Given the description of an element on the screen output the (x, y) to click on. 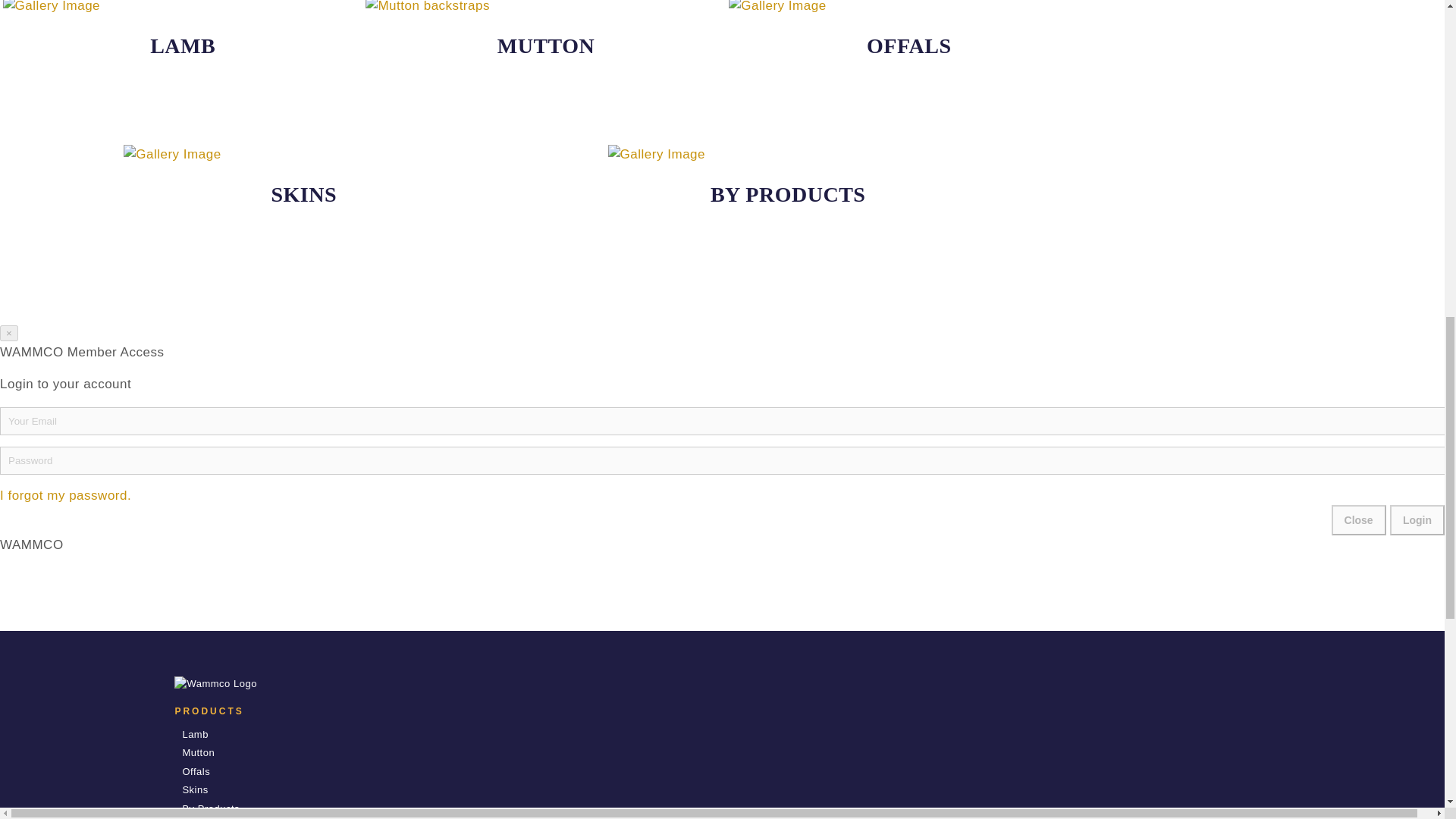
Login (1417, 520)
Login (1417, 520)
Close (1359, 520)
I forgot my password. (65, 495)
